Given the description of an element on the screen output the (x, y) to click on. 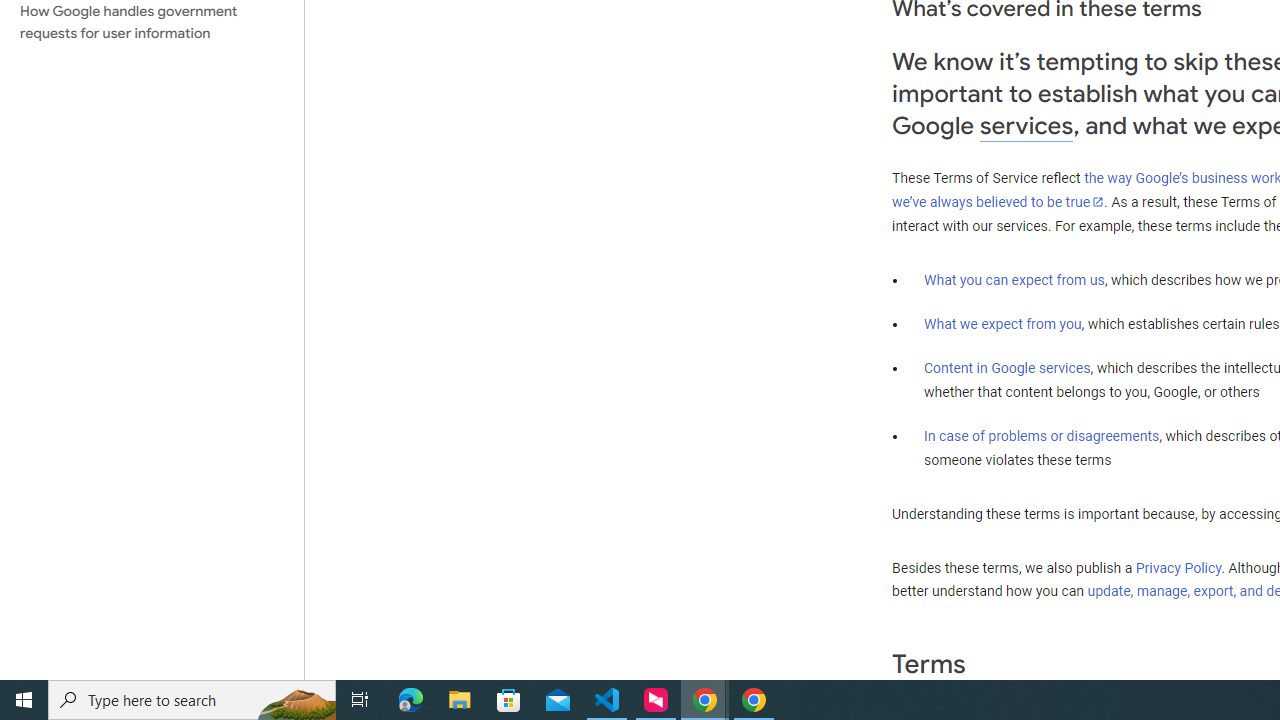
What you can expect from us (1014, 279)
services (1026, 125)
In case of problems or disagreements (1041, 435)
What we expect from you (1002, 323)
Content in Google services (1007, 368)
